Given the description of an element on the screen output the (x, y) to click on. 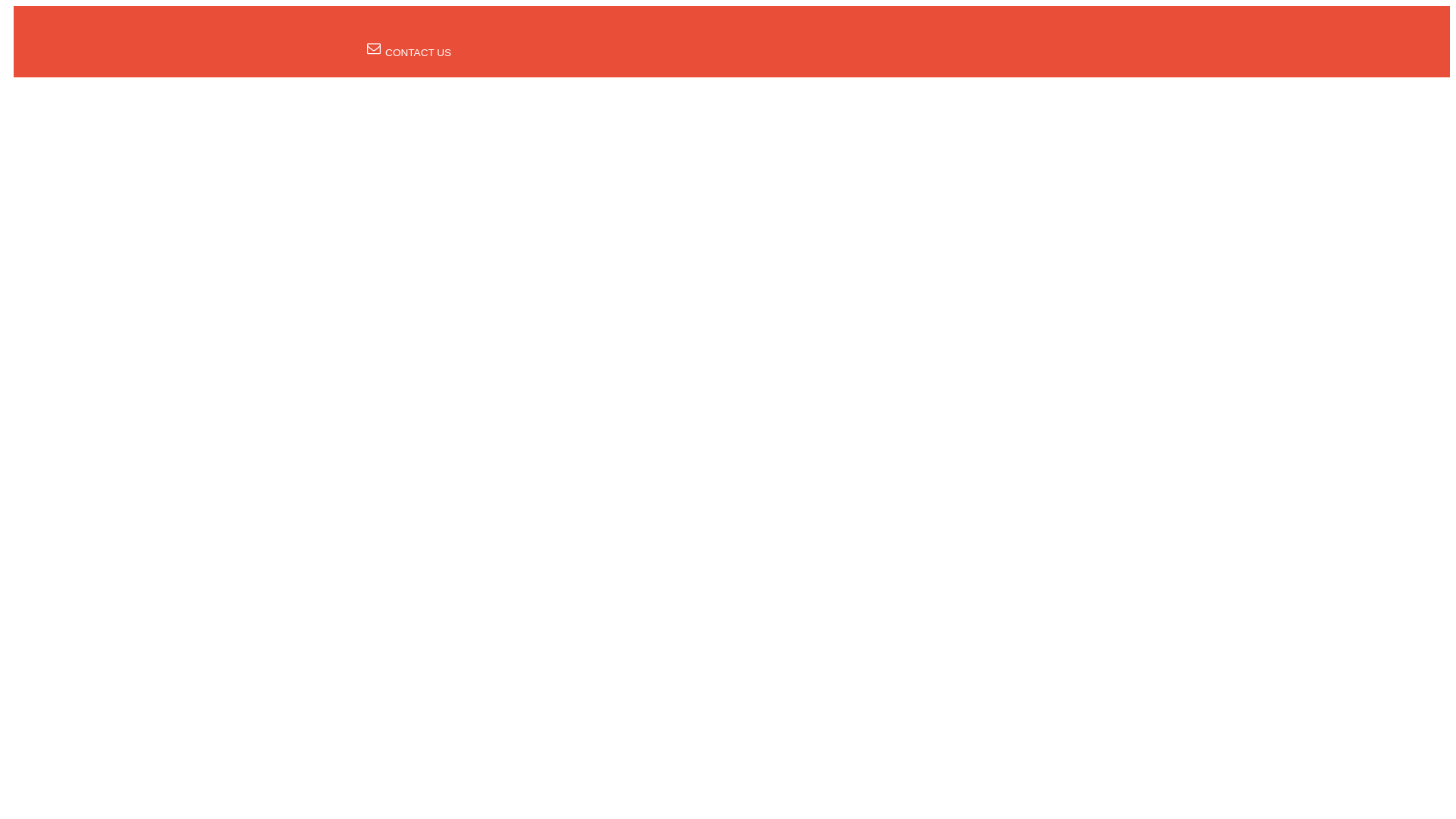
RECENTLY SEARCHED LOCATIONS (676, 30)
HOME (419, 30)
CONTACT US (408, 51)
SEARCH BY PIN CODE (511, 30)
